Given the description of an element on the screen output the (x, y) to click on. 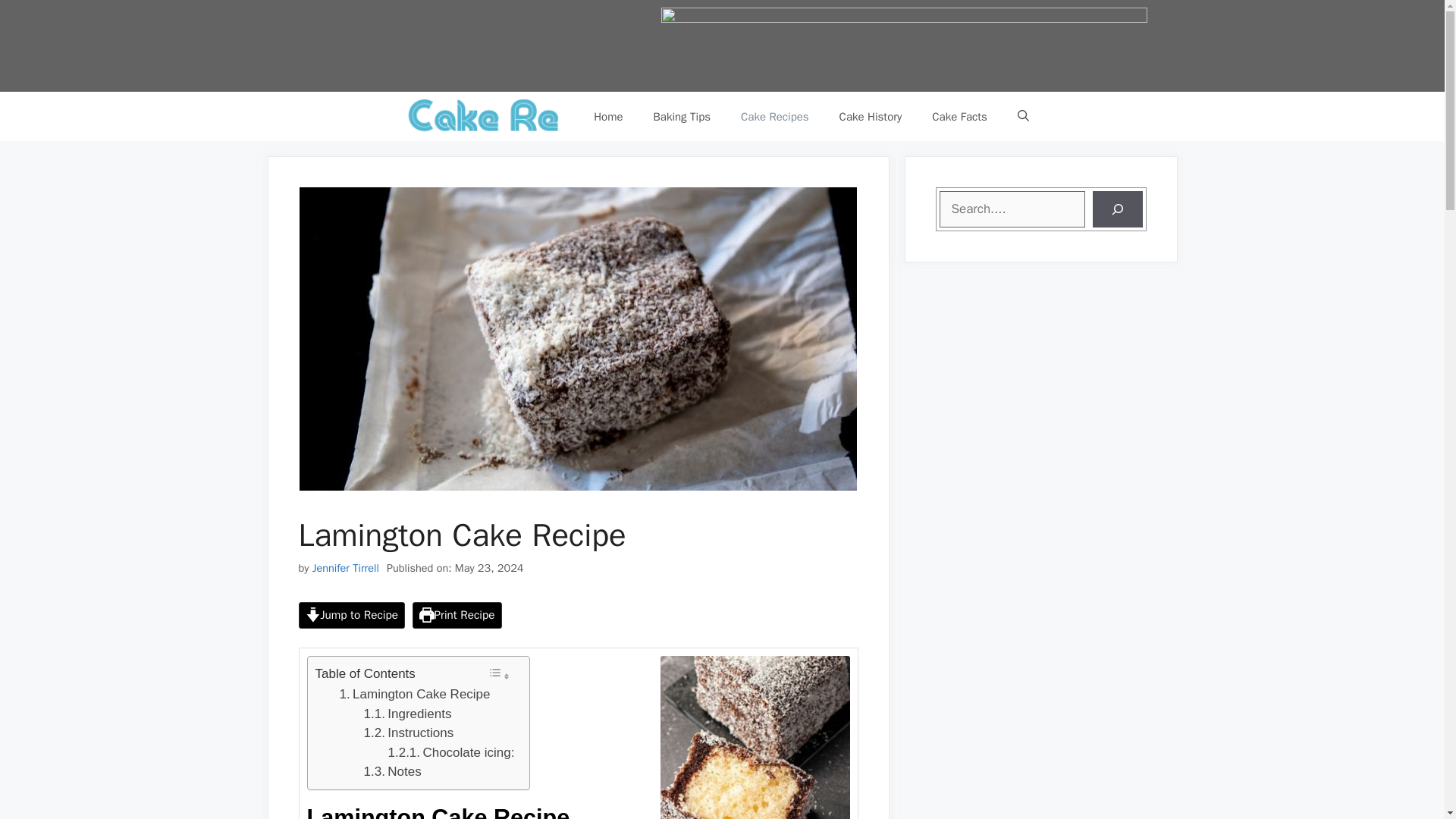
Cake Facts (960, 116)
CakeRe (485, 115)
Baking Tips (682, 116)
Print Recipe (457, 614)
Cake History (870, 116)
Chocolate icing: (451, 752)
Chocolate icing: (451, 752)
Lamington Cake Recipe (414, 694)
Jump to Recipe (352, 614)
Ingredients   (411, 713)
View all posts by Jennifer Tirrell (345, 567)
Home (607, 116)
Lamington Cake Recipe (414, 694)
Notes (393, 772)
Notes (393, 772)
